Given the description of an element on the screen output the (x, y) to click on. 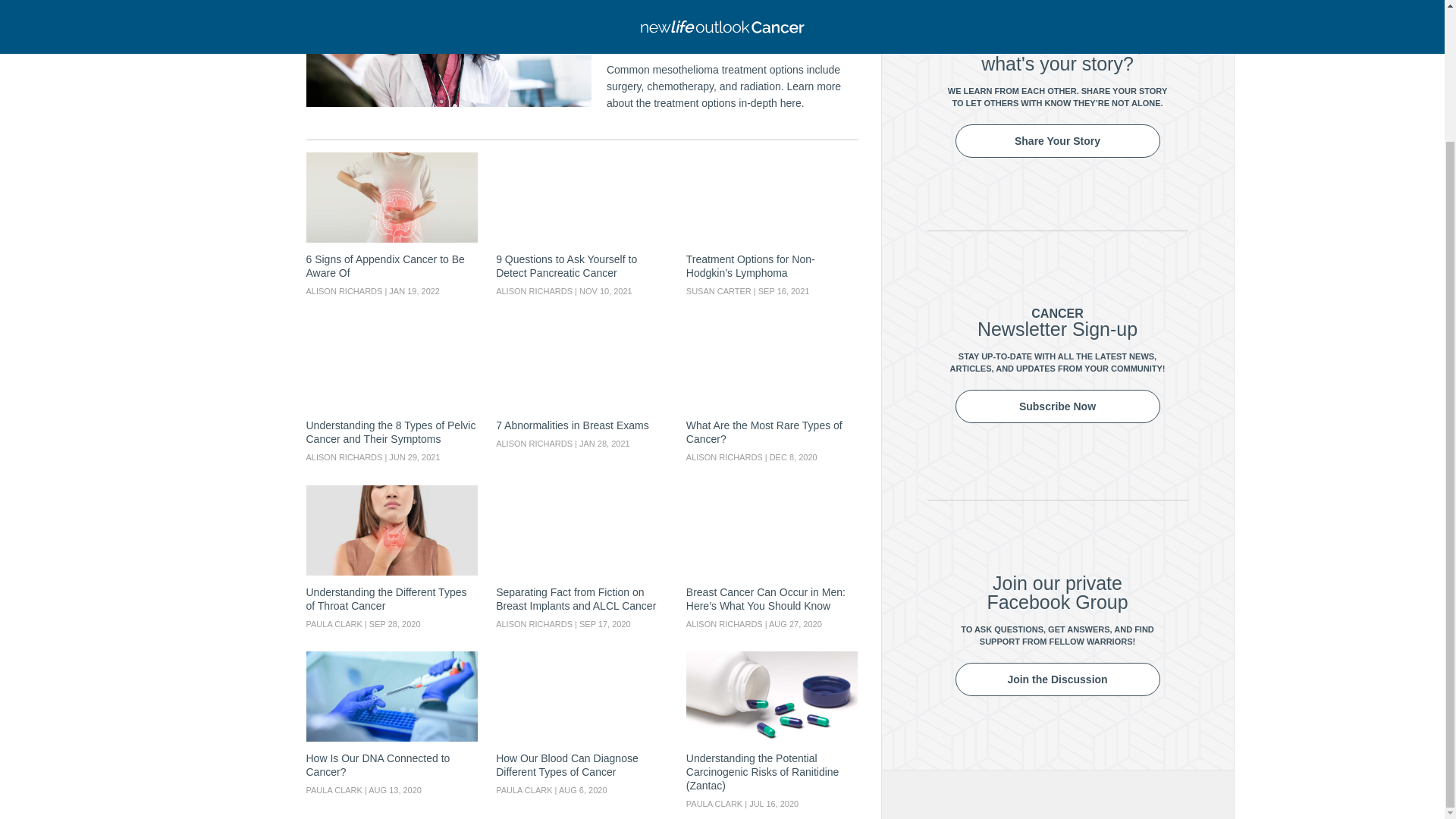
How Is Our DNA Connected to Cancer? (392, 696)
ALISON RICHARDS (723, 456)
Subscribe Now (1057, 406)
ALISON RICHARDS (343, 290)
6 Signs of Appendix Cancer to Be Aware Of (392, 197)
How Our Blood Can Diagnose Different Types of Cancer (582, 696)
Share Your Story (1057, 141)
ALISON RICHARDS (723, 623)
ALISON RICHARDS (534, 442)
Join the Discussion (1057, 679)
ALISON RICHARDS (534, 623)
9 Questions to Ask Yourself to Detect Pancreatic Cancer (582, 197)
